Given the description of an element on the screen output the (x, y) to click on. 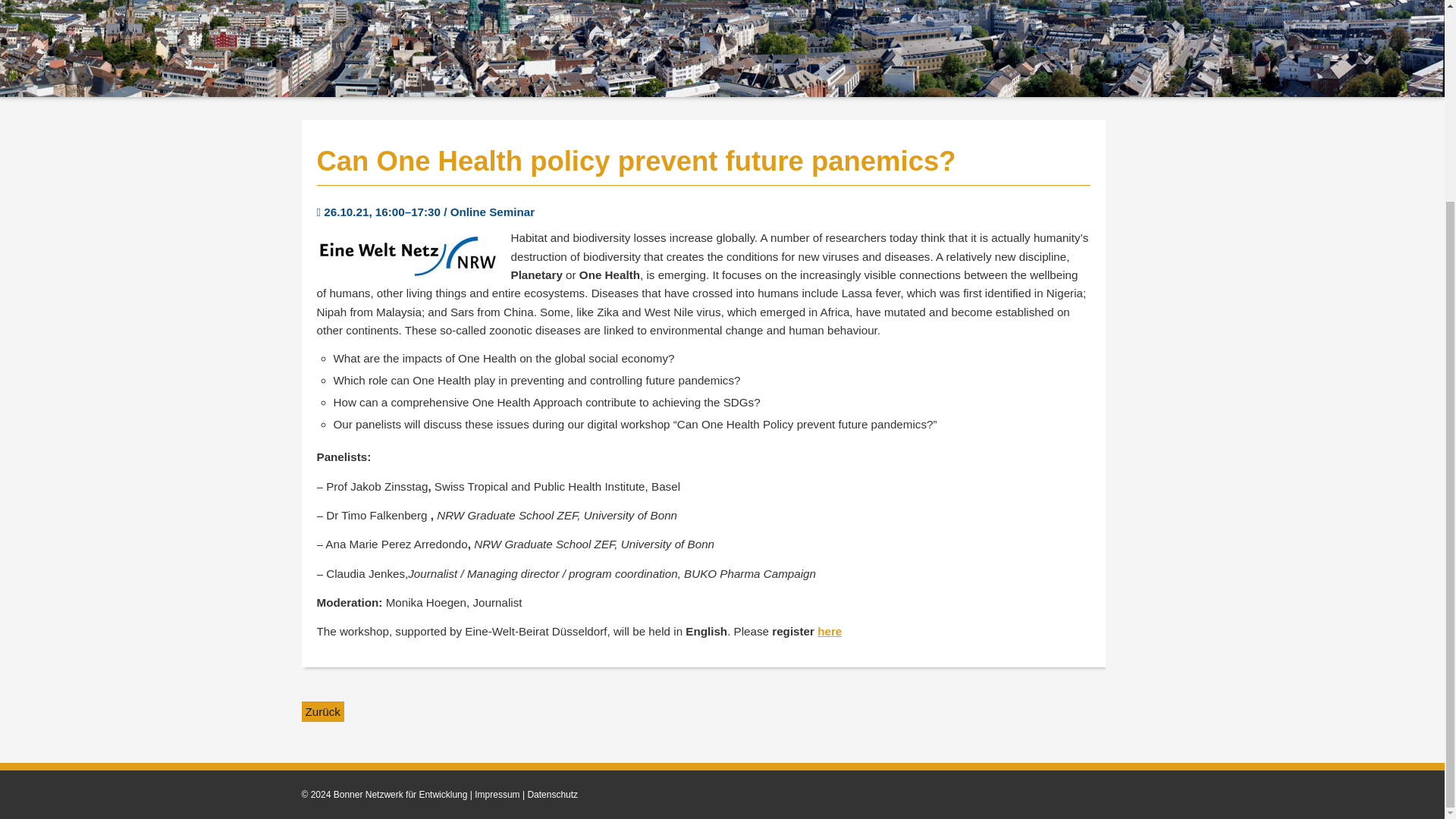
Datenschutz (552, 794)
Impressum (496, 794)
here (828, 631)
